Given the description of an element on the screen output the (x, y) to click on. 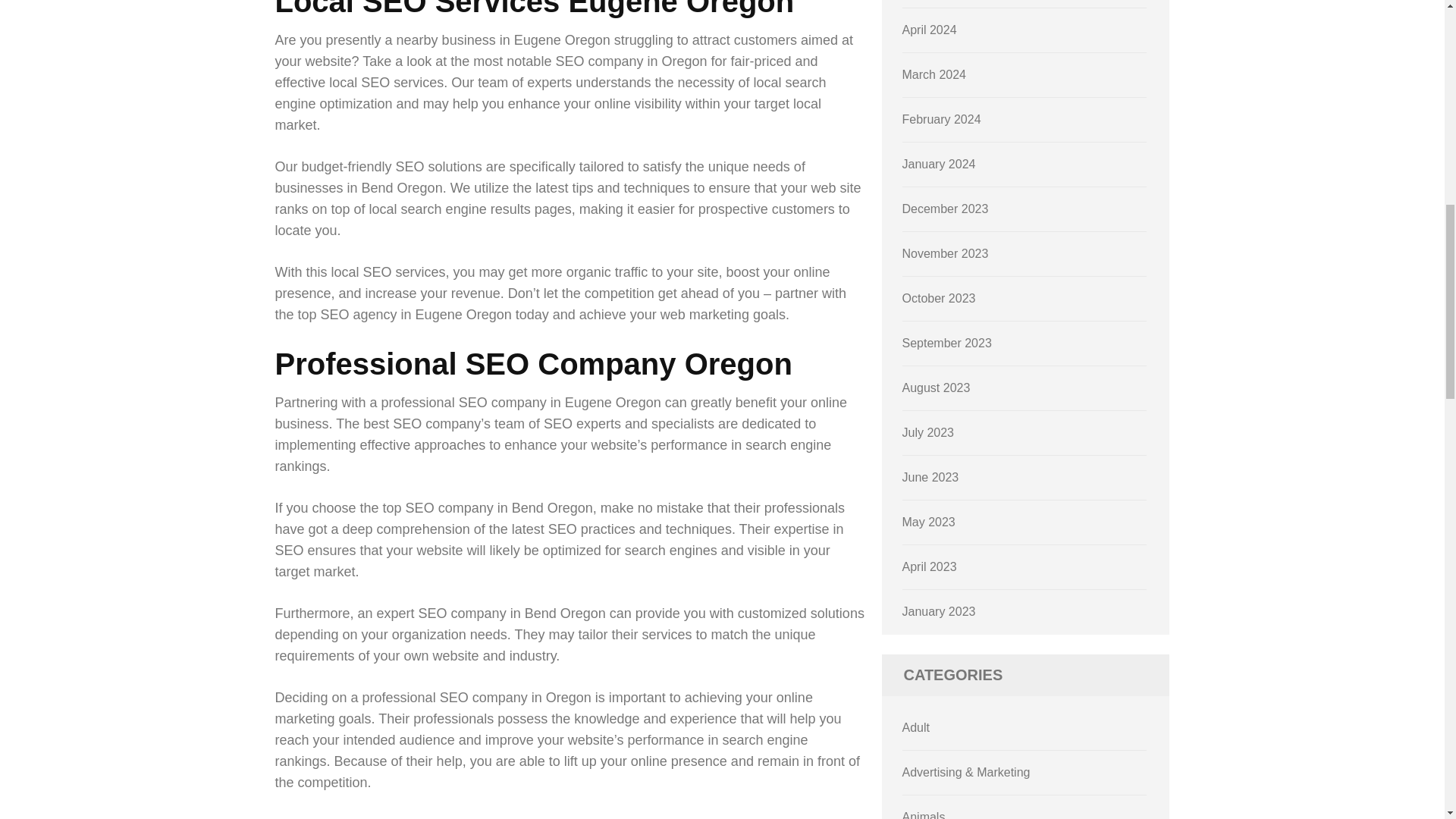
August 2023 (936, 387)
April 2024 (929, 29)
October 2023 (938, 297)
May 2023 (928, 521)
January 2024 (938, 164)
December 2023 (945, 208)
March 2024 (934, 74)
June 2023 (930, 477)
February 2024 (941, 119)
April 2023 (929, 566)
